Given the description of an element on the screen output the (x, y) to click on. 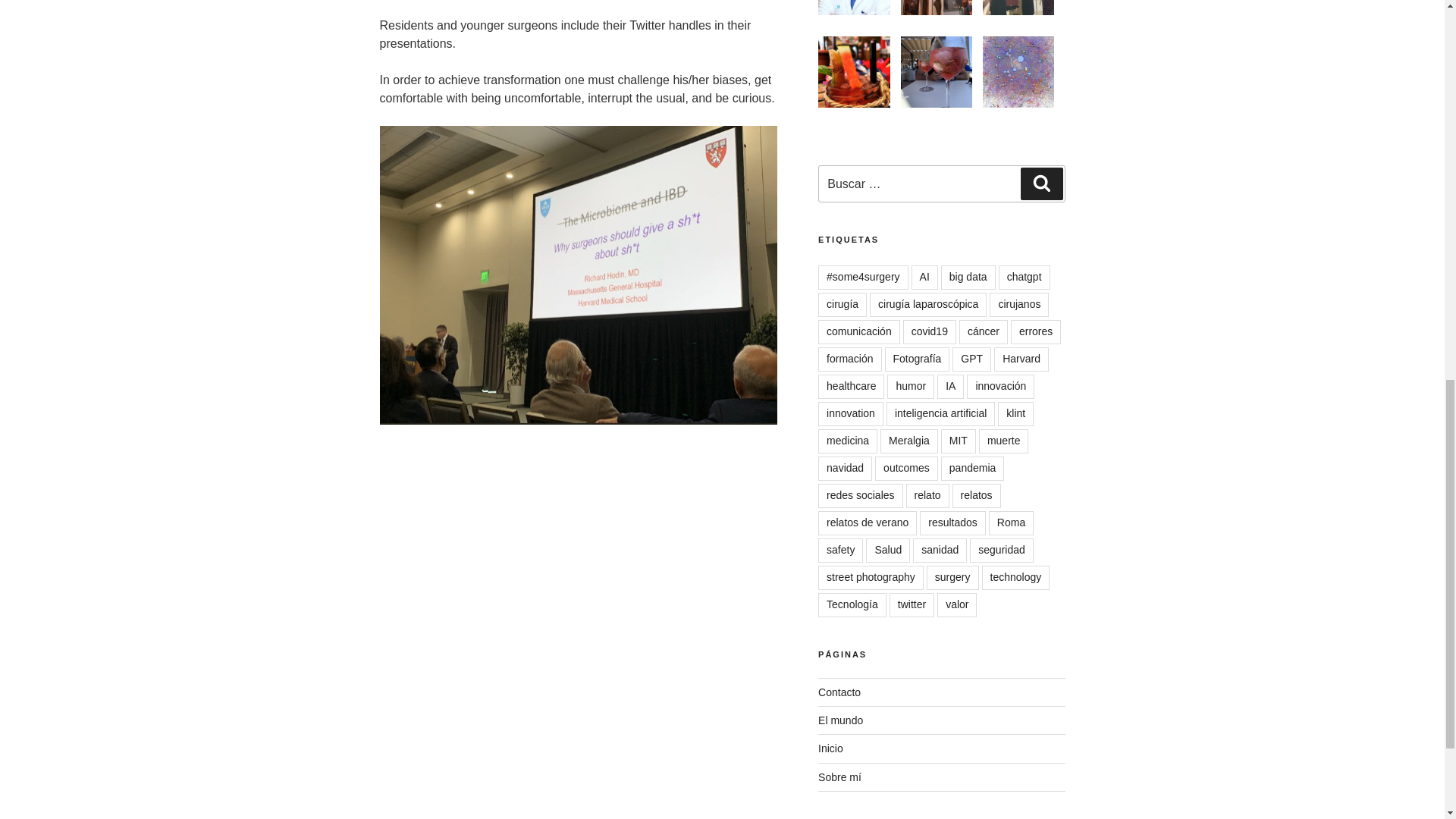
chatgpt (1023, 277)
AI (924, 277)
Buscar (1041, 183)
errores (1035, 331)
cirujanos (1019, 304)
covid19 (929, 331)
big data (967, 277)
